Given the description of an element on the screen output the (x, y) to click on. 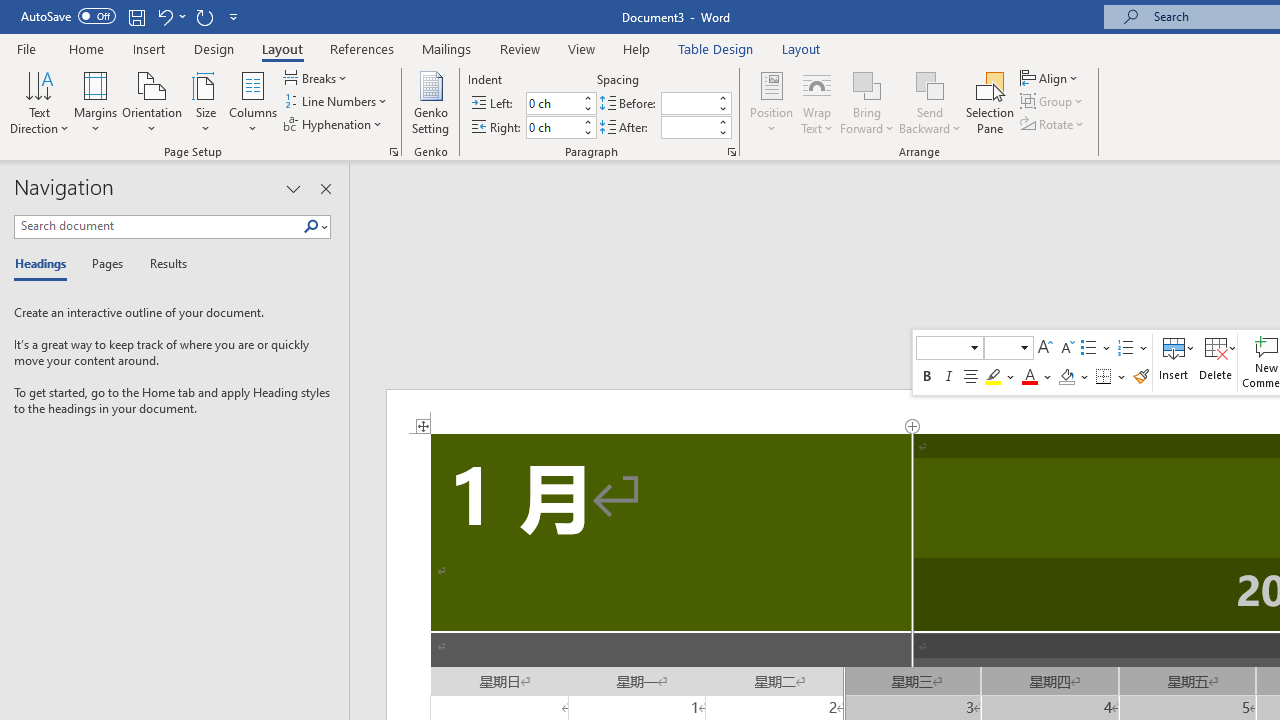
Align (1051, 78)
Group (1053, 101)
Orientation (152, 102)
